Given the description of an element on the screen output the (x, y) to click on. 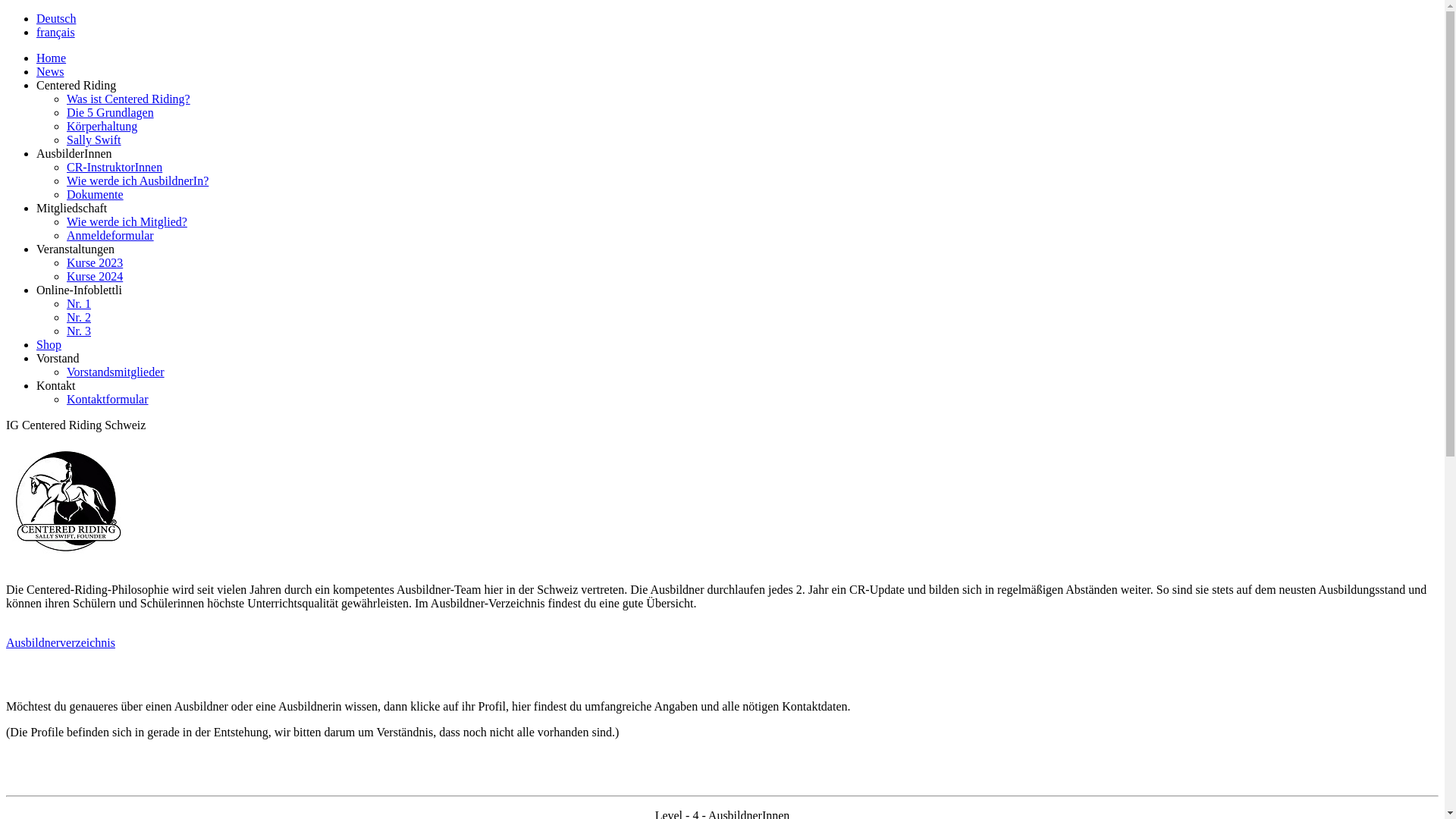
Home Element type: text (50, 57)
Kurse 2024 Element type: text (94, 275)
Sally Swift Element type: text (93, 139)
Wie werde ich AusbildnerIn? Element type: text (137, 180)
Die 5 Grundlagen Element type: text (109, 112)
Was ist Centered Riding? Element type: text (128, 98)
CR-InstruktorInnen Element type: text (114, 166)
Kurse 2023 Element type: text (94, 262)
Kontaktformular Element type: text (107, 398)
Deutsch Element type: text (55, 18)
Nr. 1 Element type: text (78, 303)
News Element type: text (49, 71)
Ausbildnerverzeichnis Element type: text (60, 642)
Vorstandsmitglieder Element type: text (115, 371)
Nr. 3 Element type: text (78, 330)
Wie werde ich Mitglied? Element type: text (126, 221)
Anmeldeformular Element type: text (109, 235)
Dokumente Element type: text (94, 194)
Nr. 2 Element type: text (78, 316)
Shop Element type: text (48, 344)
